Given the description of an element on the screen output the (x, y) to click on. 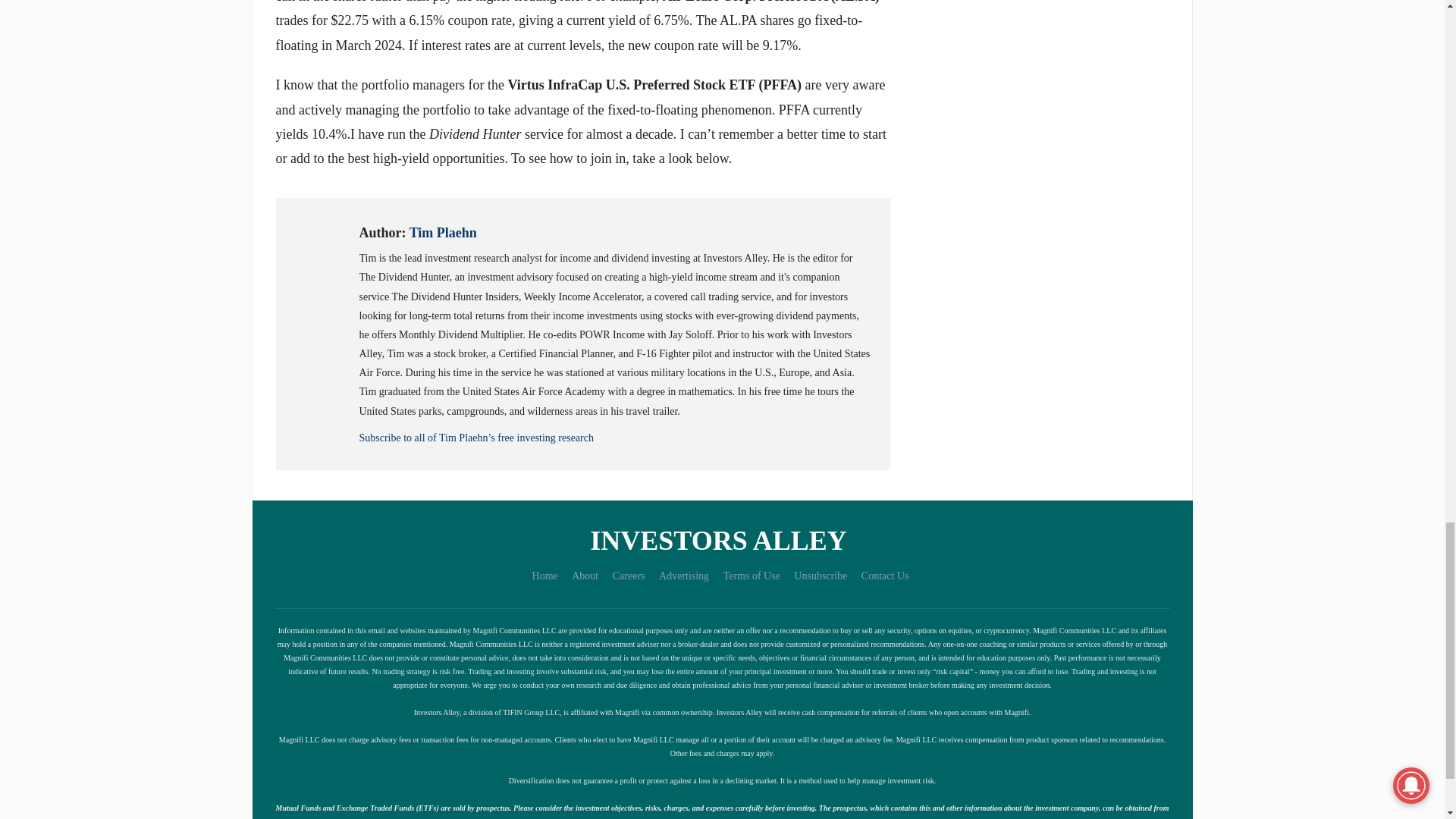
Home (544, 575)
Bringing the market closer to you (721, 540)
About (585, 575)
Tim Plaehn (443, 232)
INVESTORS ALLEY (721, 540)
Careers (628, 575)
Advertising (684, 575)
